Given the description of an element on the screen output the (x, y) to click on. 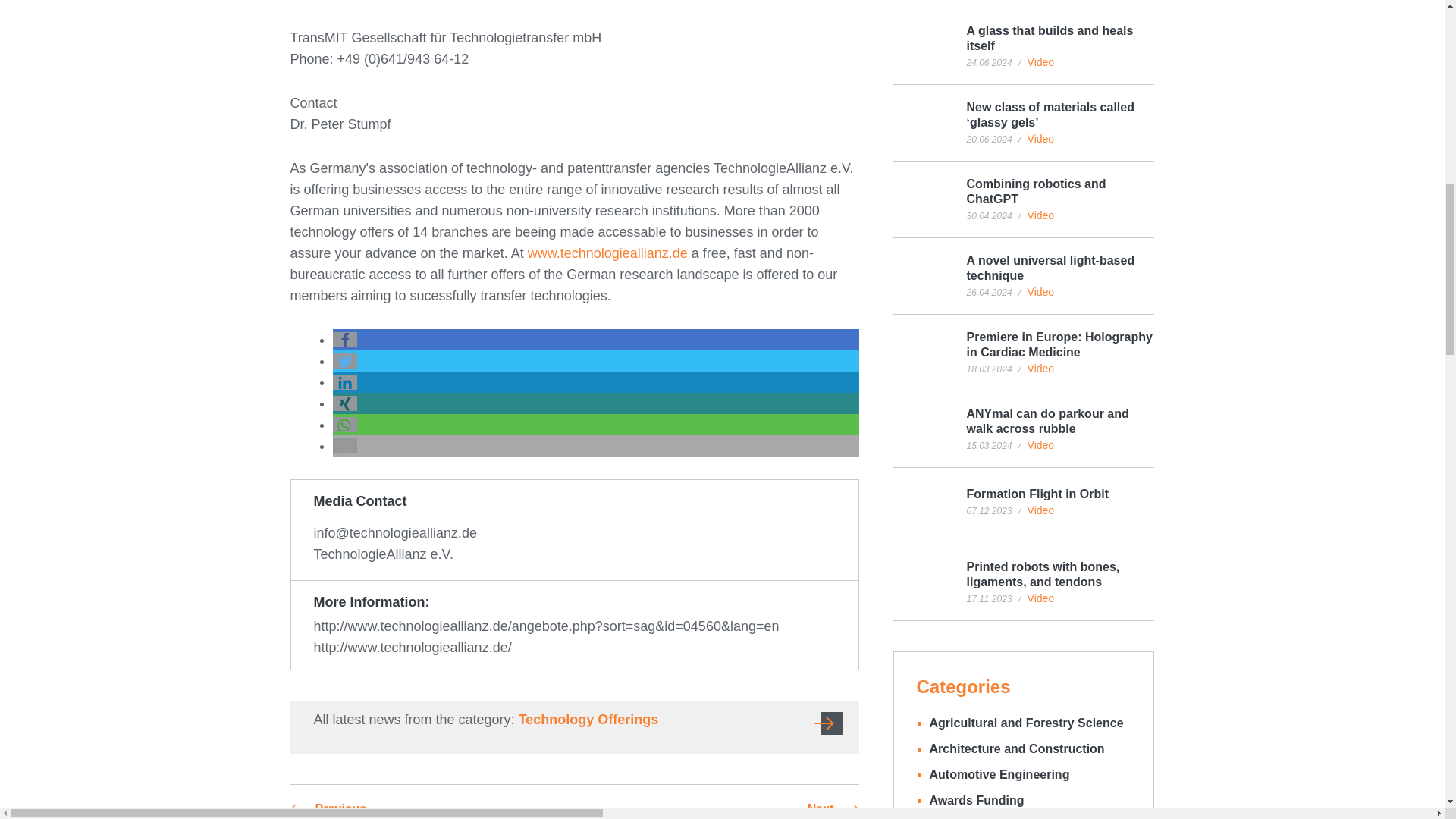
Send by email (343, 445)
Share on XING (343, 403)
Share on Twitter (343, 360)
Share on LinkedIn (343, 381)
Share on Facebook (343, 339)
Share on Whatsapp (343, 424)
